Given the description of an element on the screen output the (x, y) to click on. 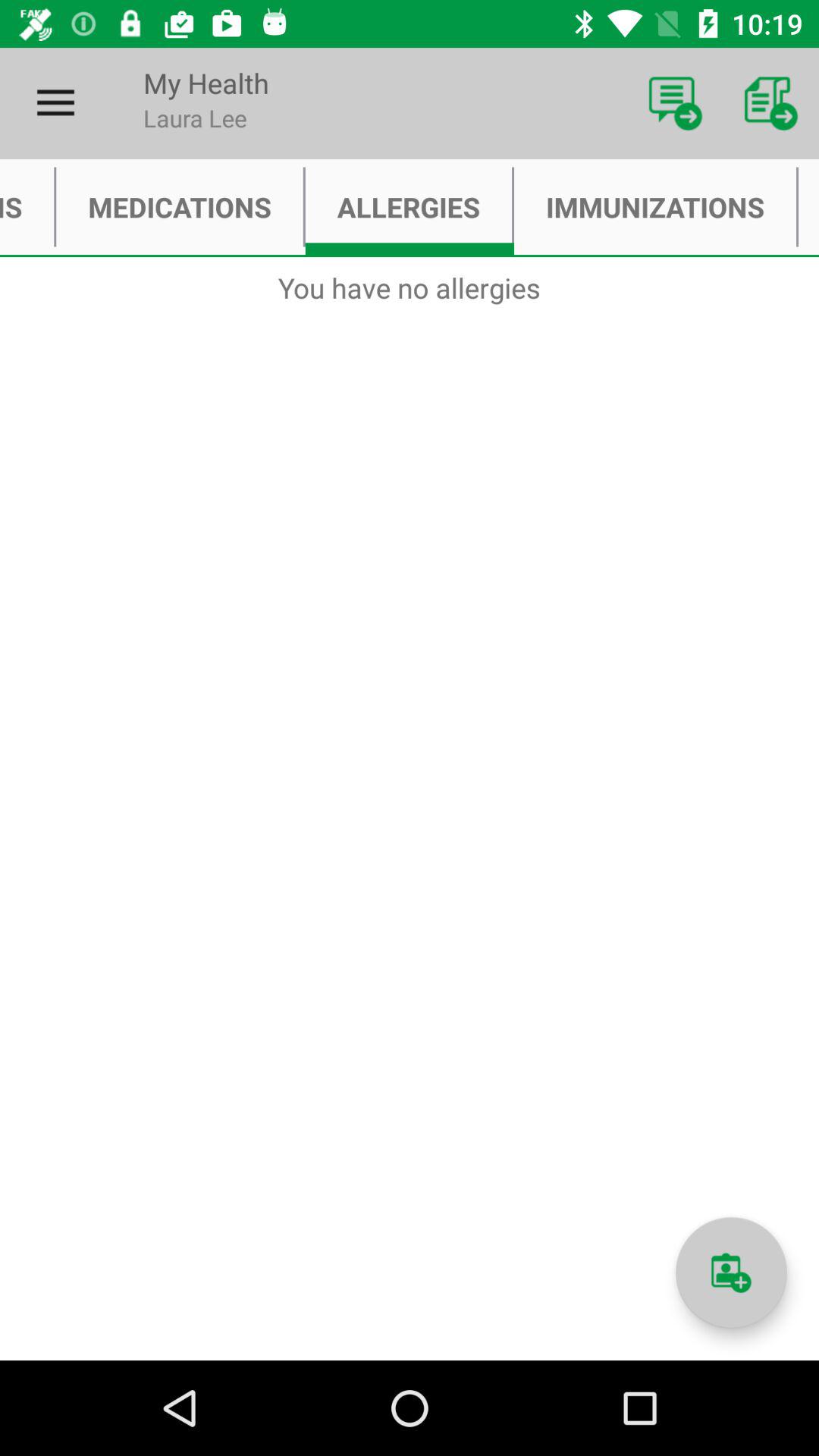
turn off the item next to my health item (55, 103)
